Given the description of an element on the screen output the (x, y) to click on. 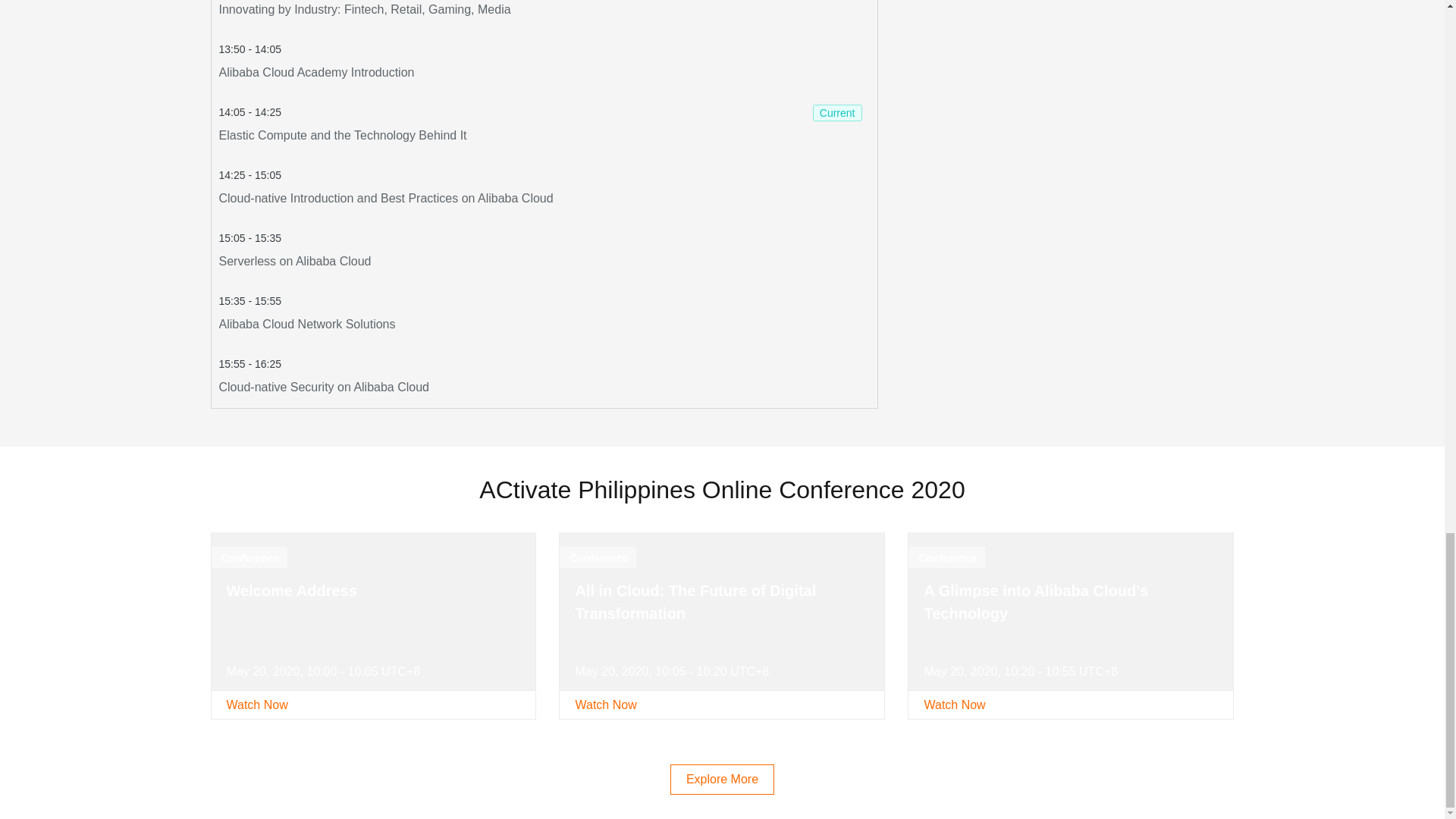
Explore More (543, 250)
